Given the description of an element on the screen output the (x, y) to click on. 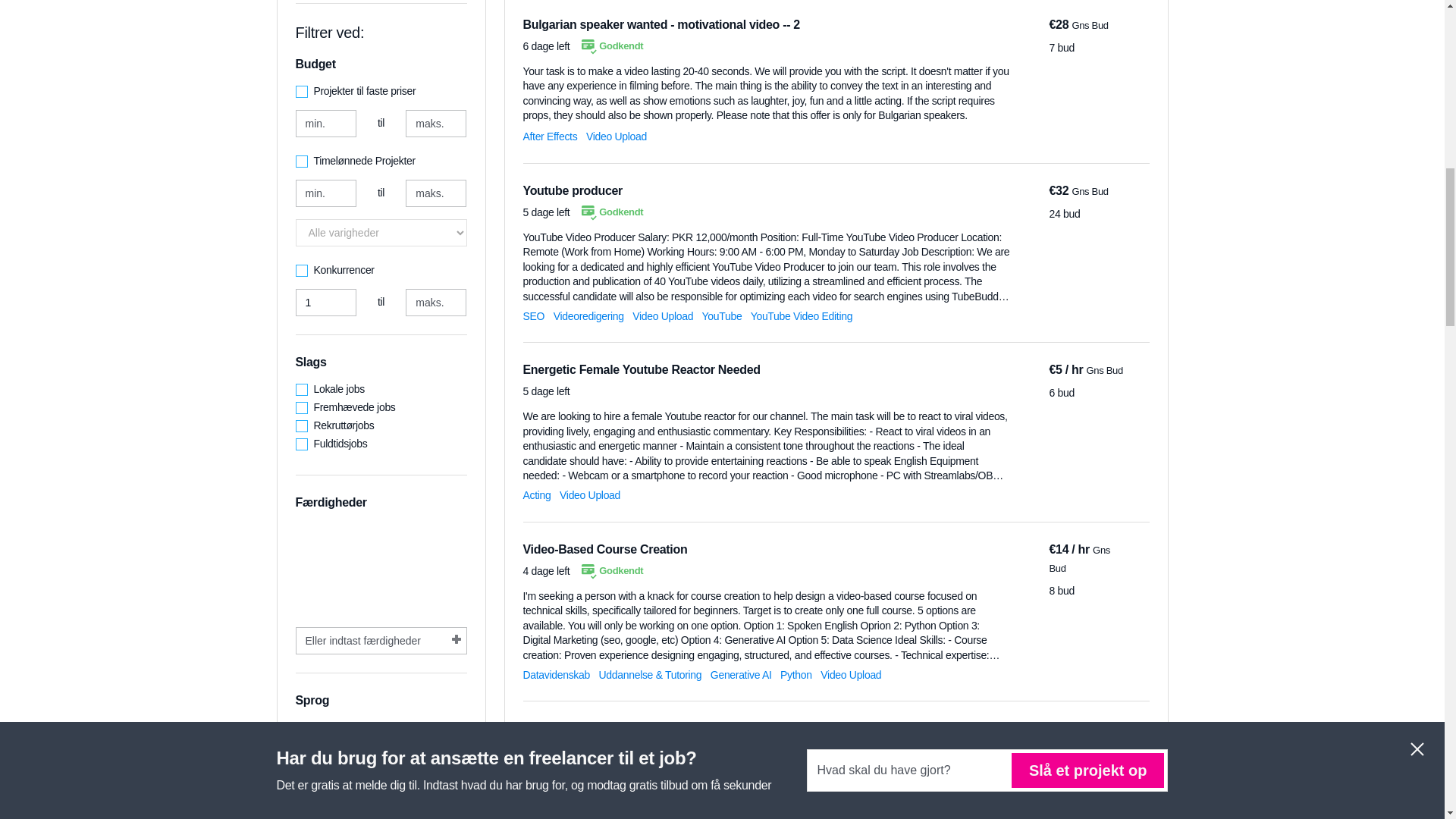
Bulgarian speaker wanted - motivational video -- 2 (660, 24)
Acting (536, 494)
Videoredigering (588, 315)
Datavidenskab (555, 674)
Energetic Female Youtube Reactor Needed (641, 369)
Video Upload (662, 315)
YouTube (721, 315)
SEO (533, 315)
Video-Based Course Creation (604, 549)
1 (325, 302)
